Given the description of an element on the screen output the (x, y) to click on. 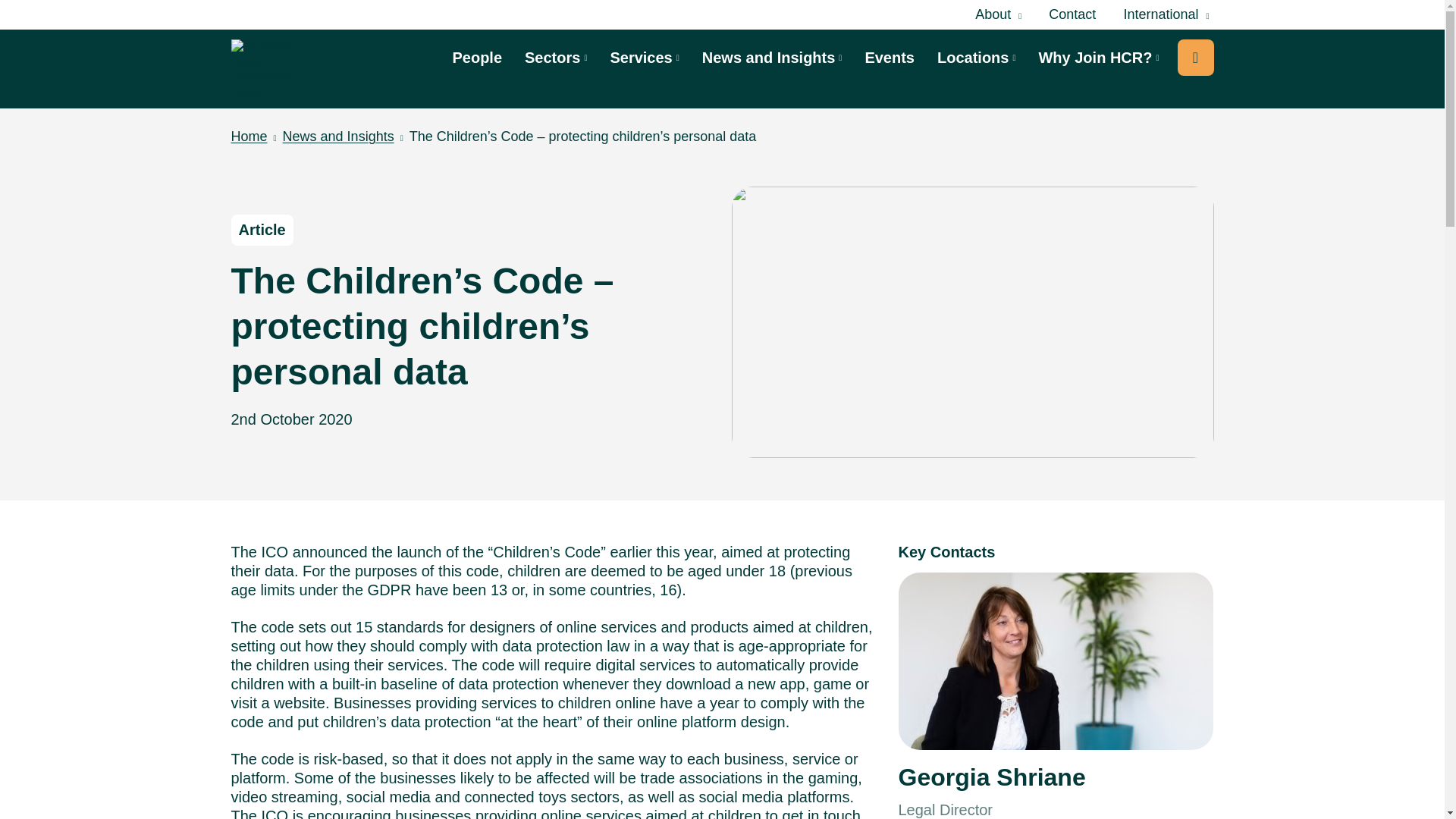
Contact (1072, 14)
About (998, 14)
International (1165, 14)
